Given the description of an element on the screen output the (x, y) to click on. 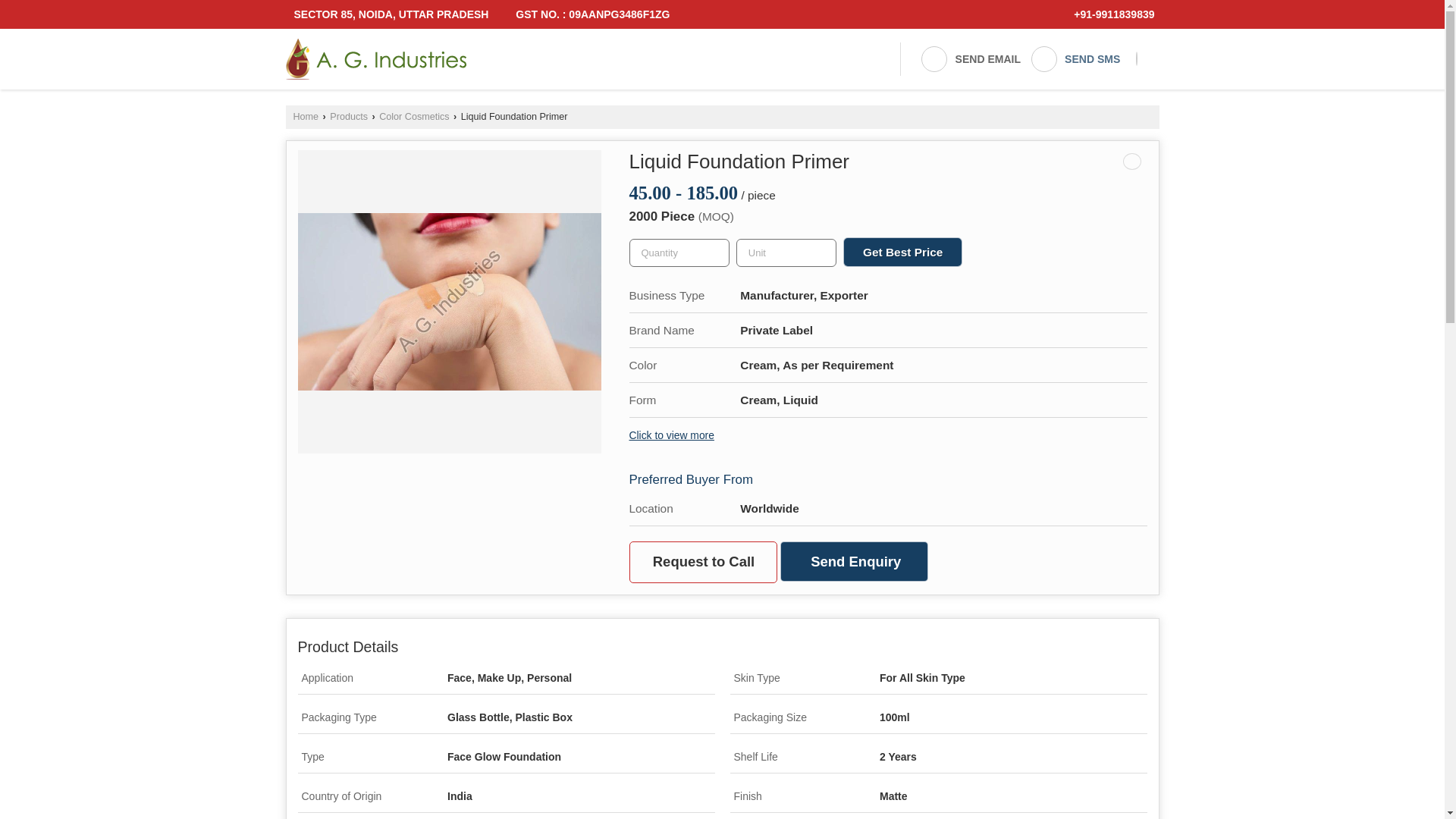
A. G. Industries (376, 58)
SEND EMAIL (970, 59)
SEND SMS (1075, 59)
